Given the description of an element on the screen output the (x, y) to click on. 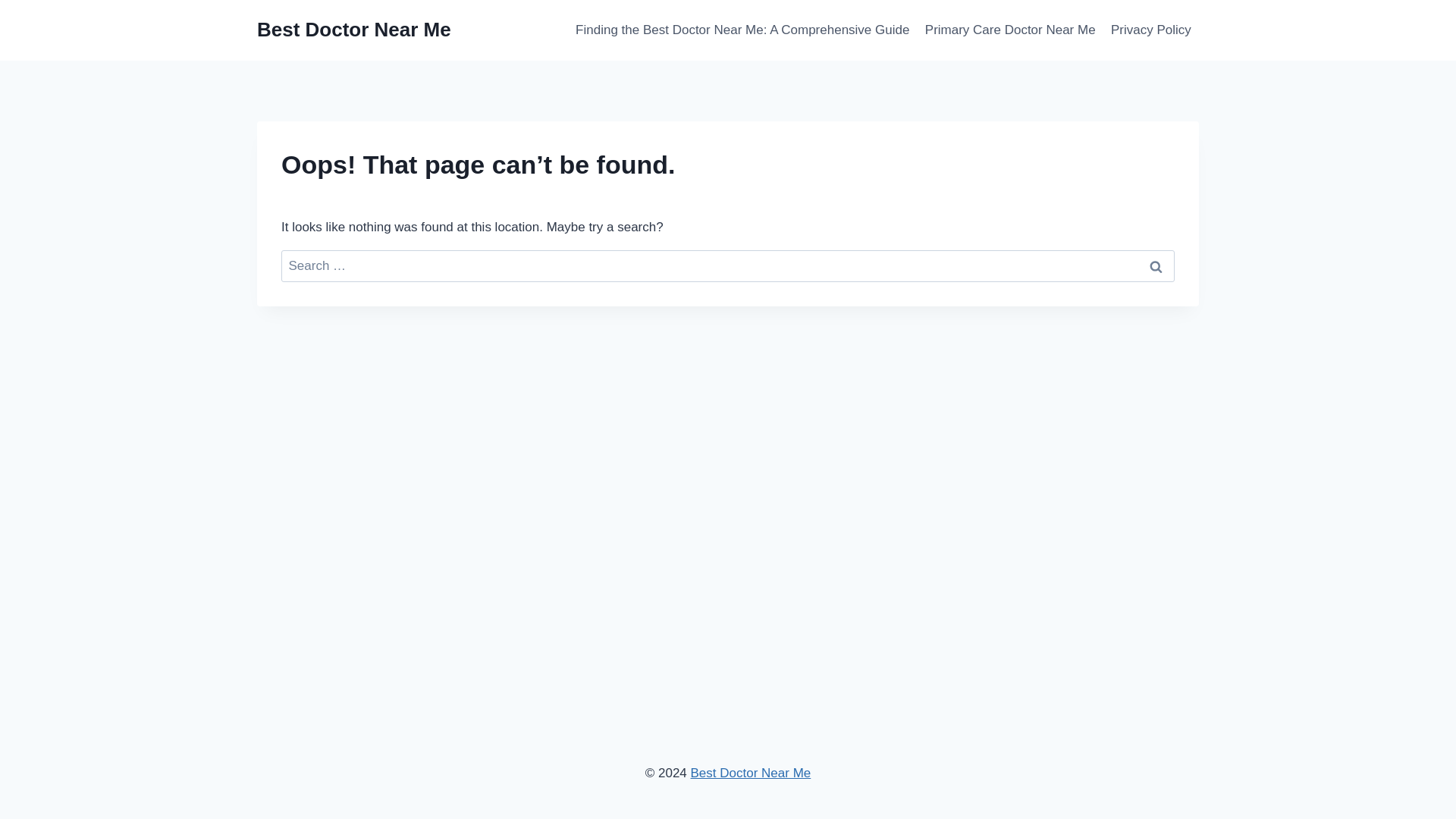
Search (1155, 266)
Best Doctor Near Me (750, 772)
Finding the Best Doctor Near Me: A Comprehensive Guide (742, 30)
Privacy Policy (1150, 30)
Primary Care Doctor Near Me (1010, 30)
Best Doctor Near Me (354, 29)
Search (1155, 266)
Search (1155, 266)
